Given the description of an element on the screen output the (x, y) to click on. 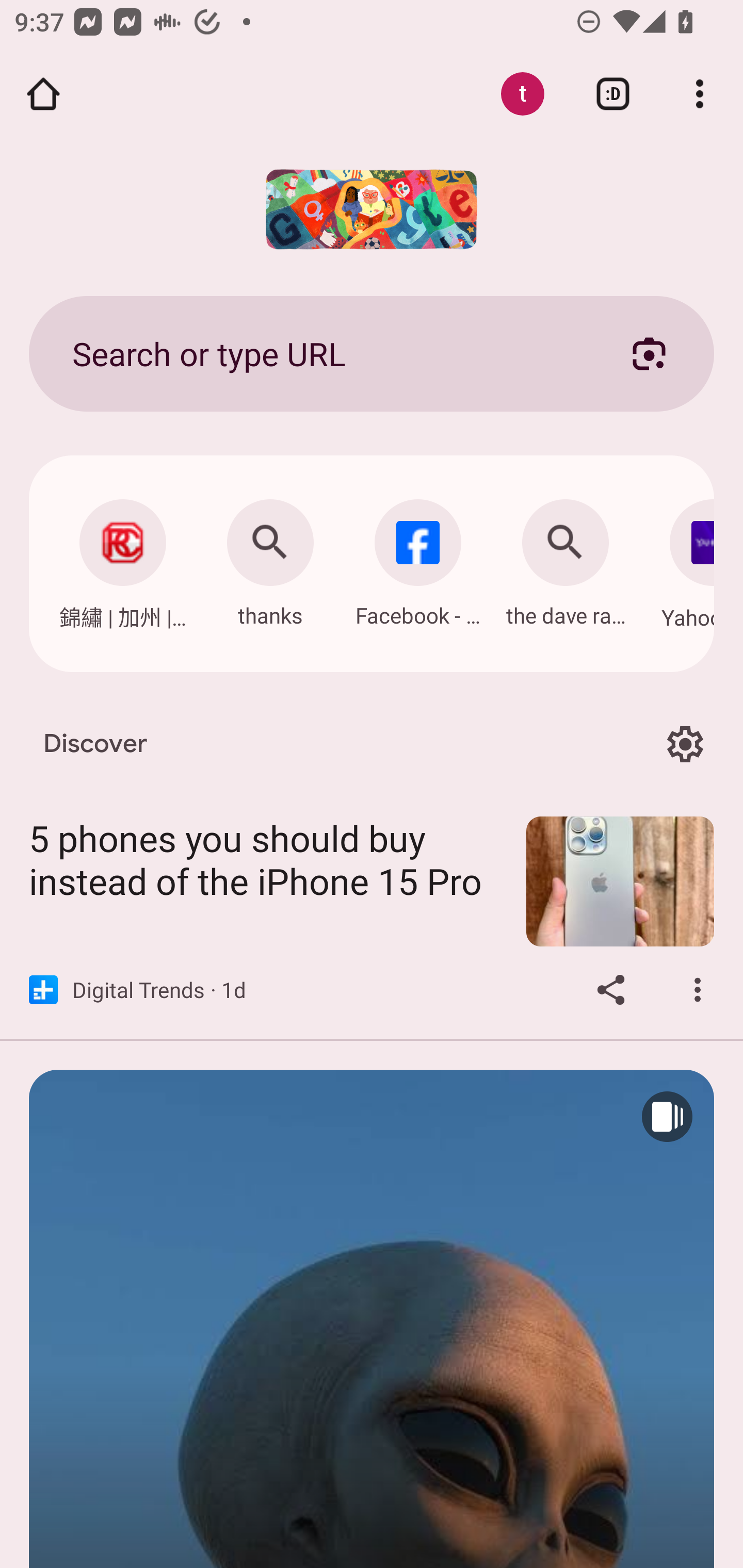
Open the home page (43, 93)
Switch or close tabs (612, 93)
Customize and control Google Chrome (699, 93)
Google doodle: 2024 年国际妇女节 (371, 209)
Search or type URL (327, 353)
Search with your camera using Google Lens (648, 353)
Search: thanks thanks (270, 558)
Search: the dave ramsey show the dave ramsey show (565, 558)
Options for Discover (684, 743)
